Given the description of an element on the screen output the (x, y) to click on. 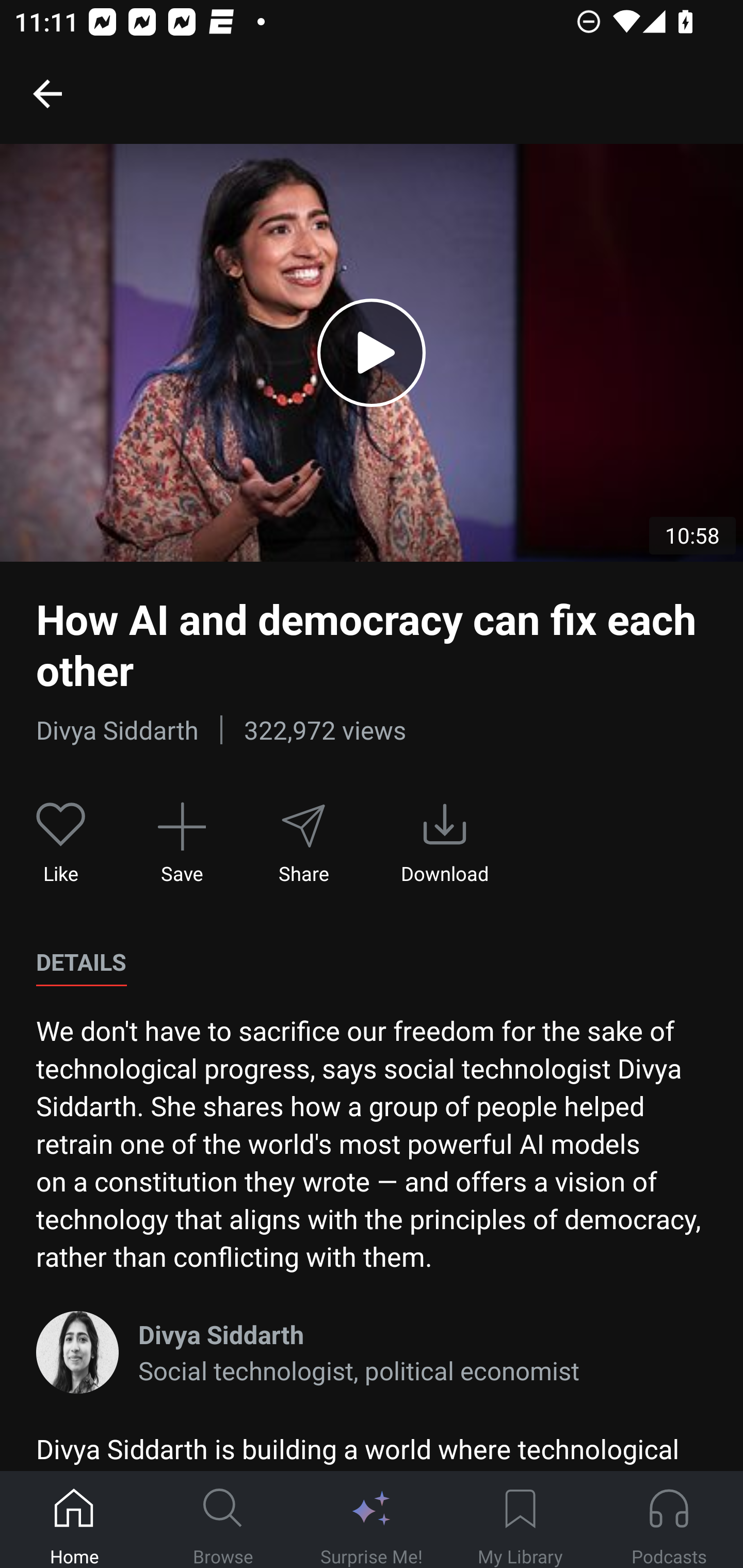
Home, back (47, 92)
Like (60, 843)
Save (181, 843)
Share (302, 843)
Download (444, 843)
DETAILS (80, 962)
Home (74, 1520)
Browse (222, 1520)
Surprise Me! (371, 1520)
My Library (519, 1520)
Podcasts (668, 1520)
